Given the description of an element on the screen output the (x, y) to click on. 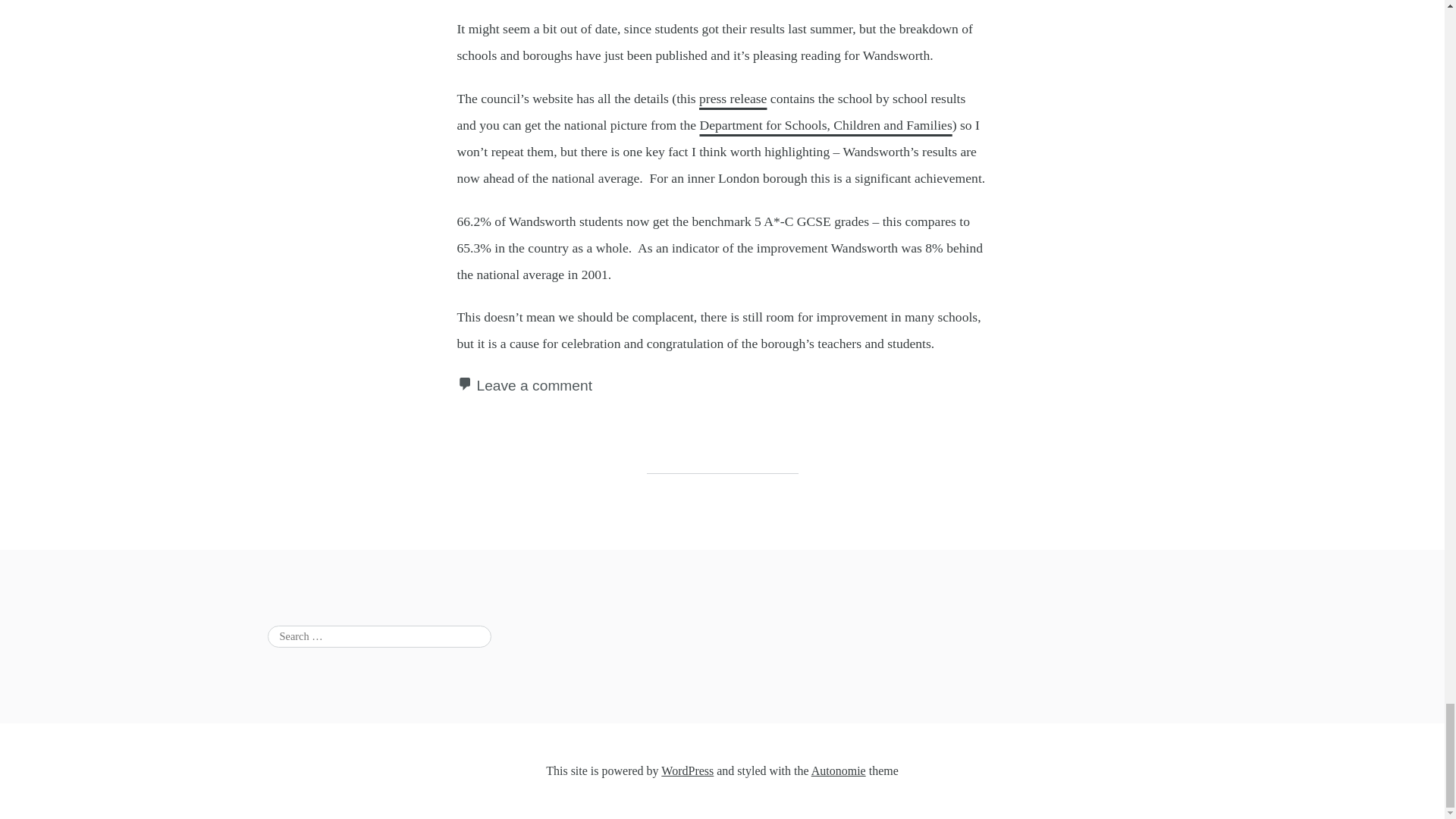
press release (732, 98)
Leave a comment (534, 385)
WordPress (687, 770)
Autonomie (838, 770)
Department for Schools, Children and Families (825, 124)
